Given the description of an element on the screen output the (x, y) to click on. 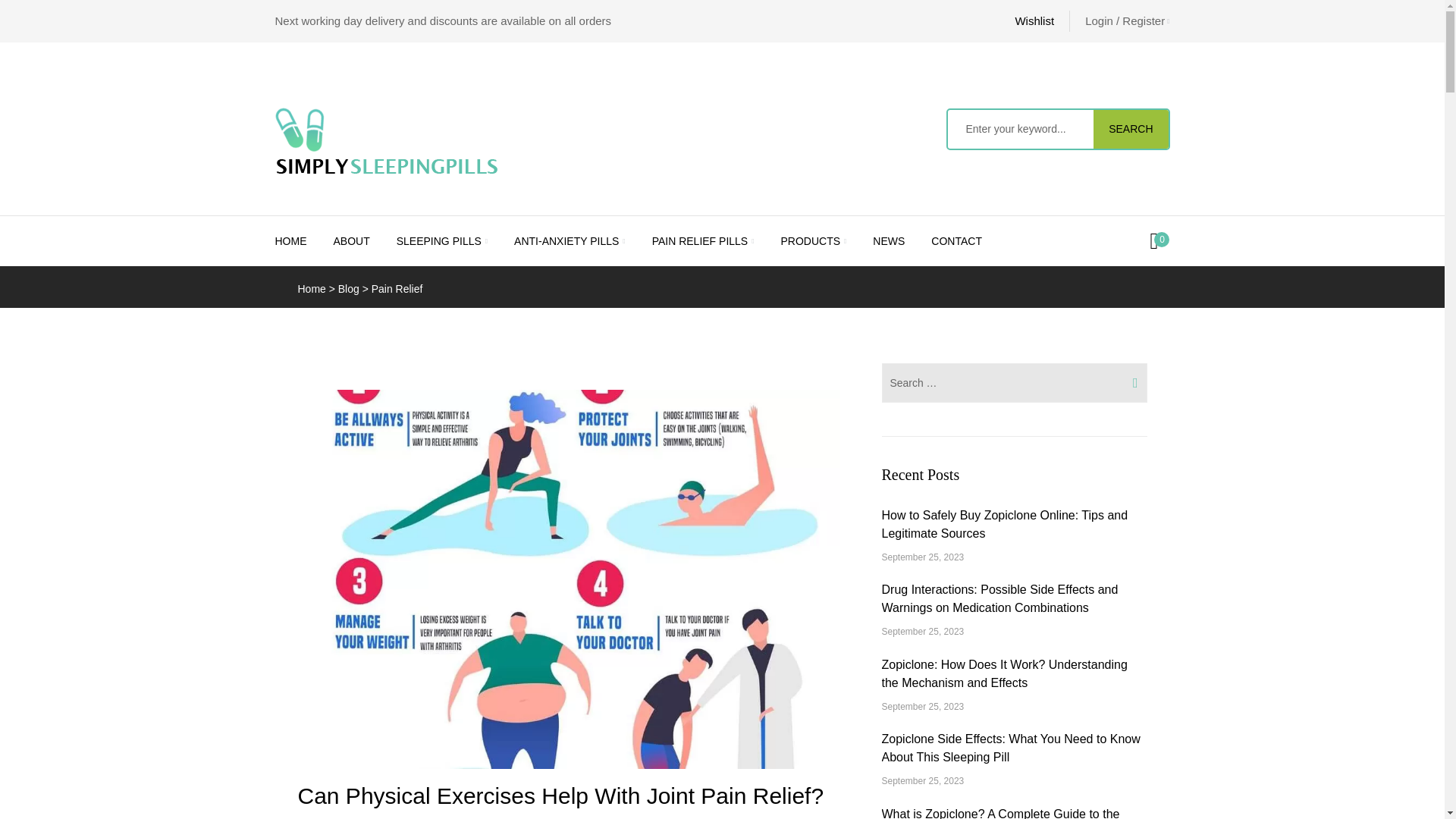
Go to Buy Sleeping Tablets And Pills Online. (310, 288)
Go to the Pain Relief category archives. (397, 288)
Search (1020, 128)
Wishlist (1034, 20)
Go to Blog. (348, 288)
